Given the description of an element on the screen output the (x, y) to click on. 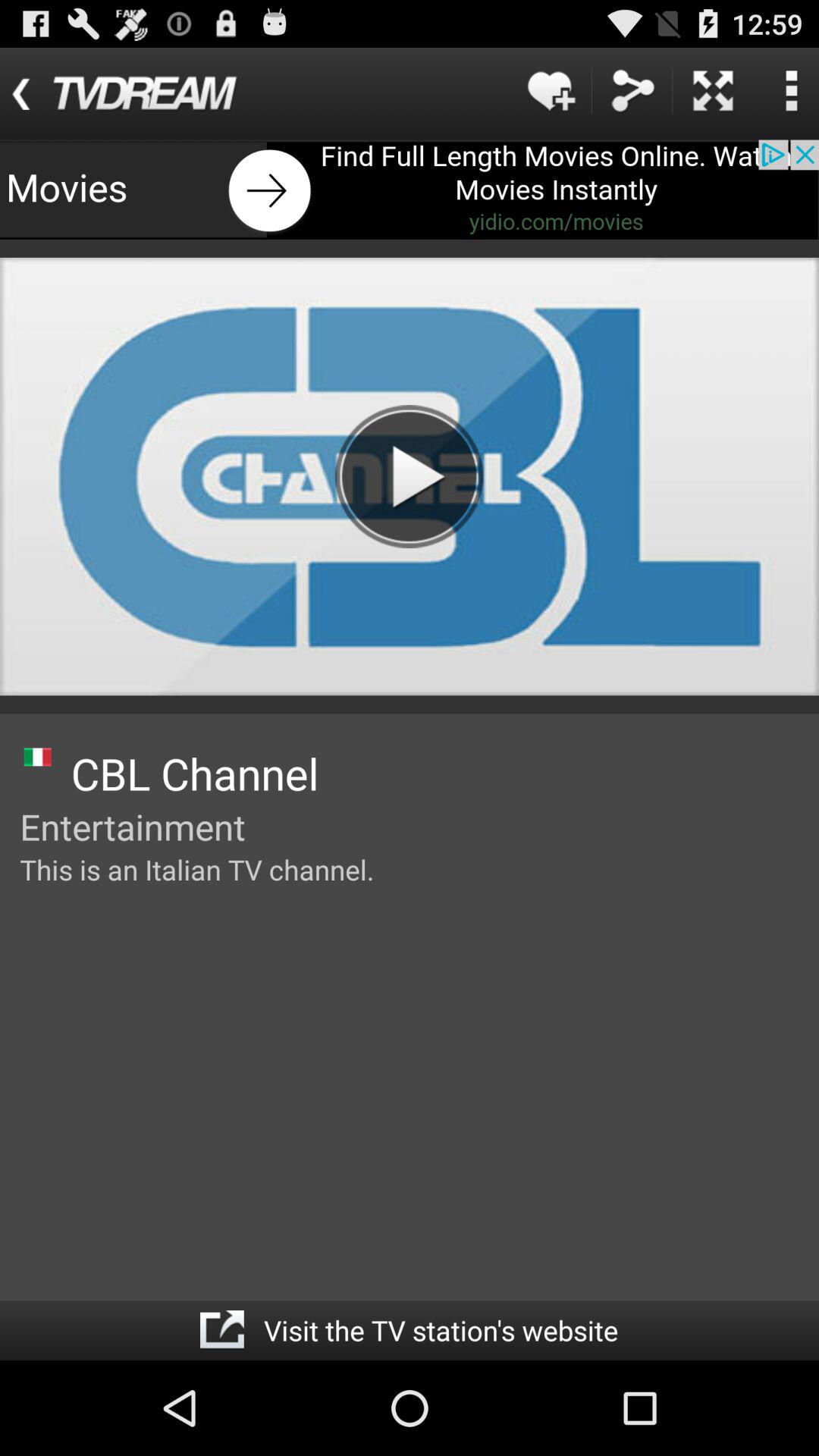
go site (221, 1330)
